Given the description of an element on the screen output the (x, y) to click on. 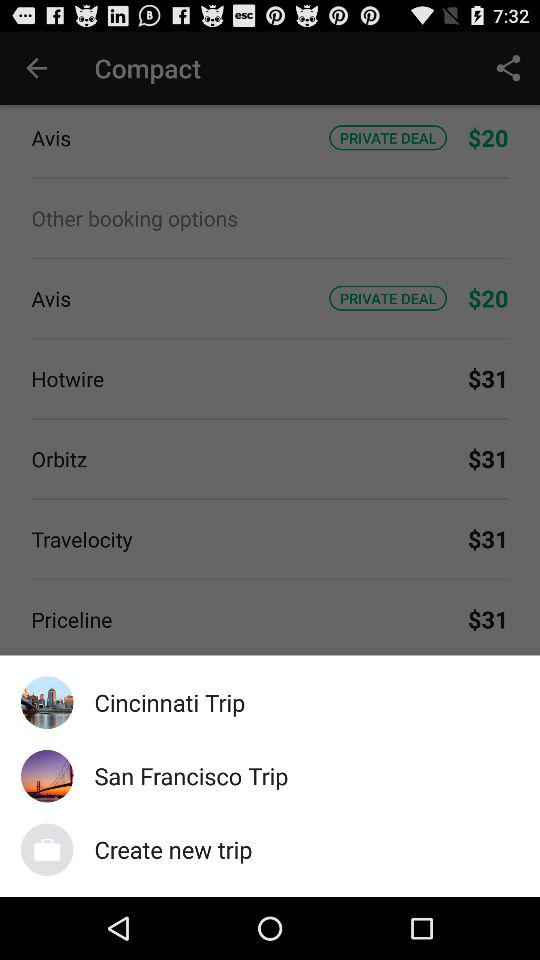
click icon at the center (270, 463)
